Given the description of an element on the screen output the (x, y) to click on. 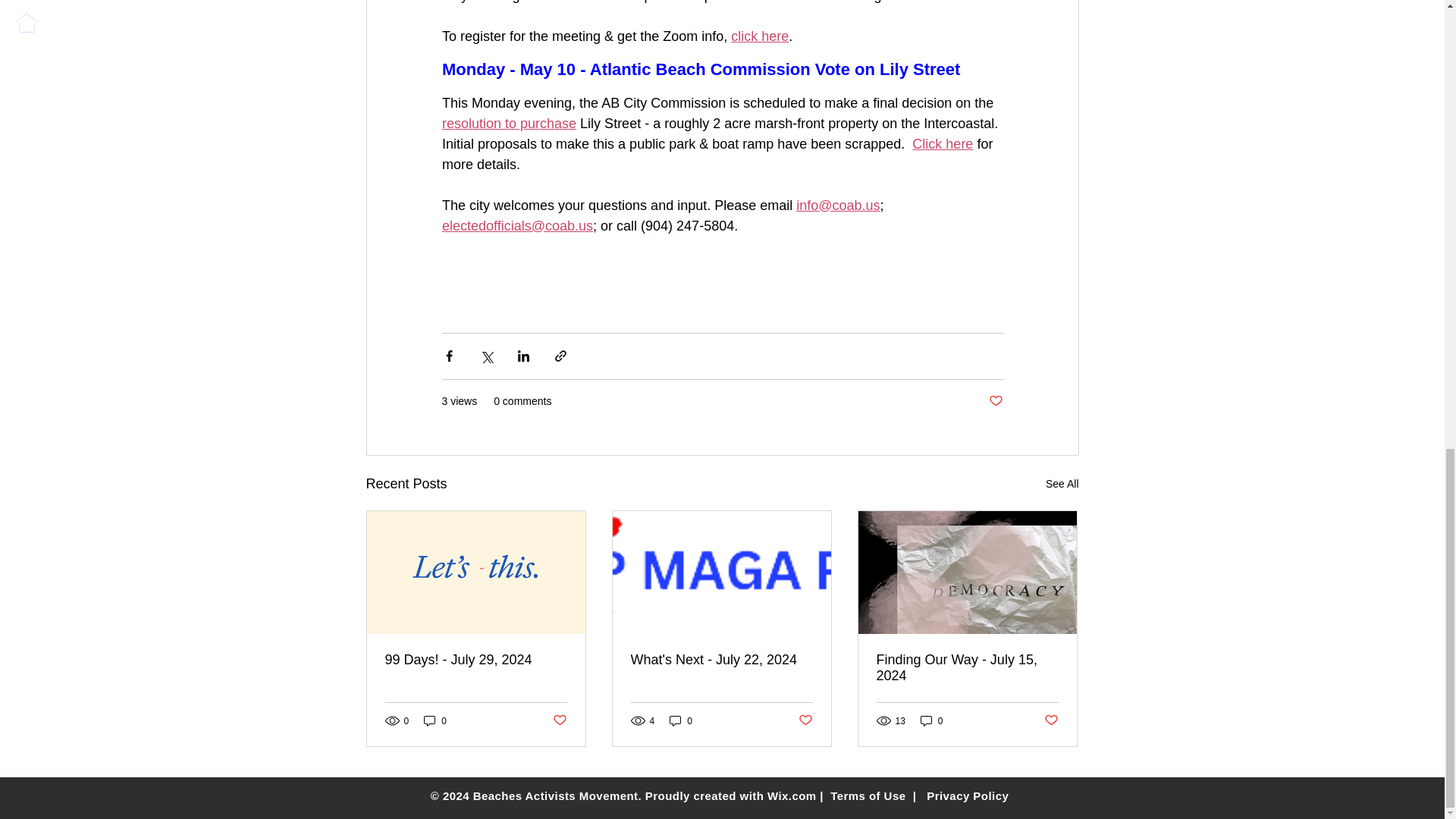
click here (759, 36)
0 (681, 720)
Post not marked as liked (558, 720)
99 Days! - July 29, 2024 (476, 659)
Click here (942, 143)
Post not marked as liked (804, 720)
0 (435, 720)
See All (1061, 484)
What's Next - July 22, 2024 (721, 659)
resolution to purchase (508, 122)
Post not marked as liked (995, 400)
Finding Our Way - July 15, 2024 (967, 667)
